Given the description of an element on the screen output the (x, y) to click on. 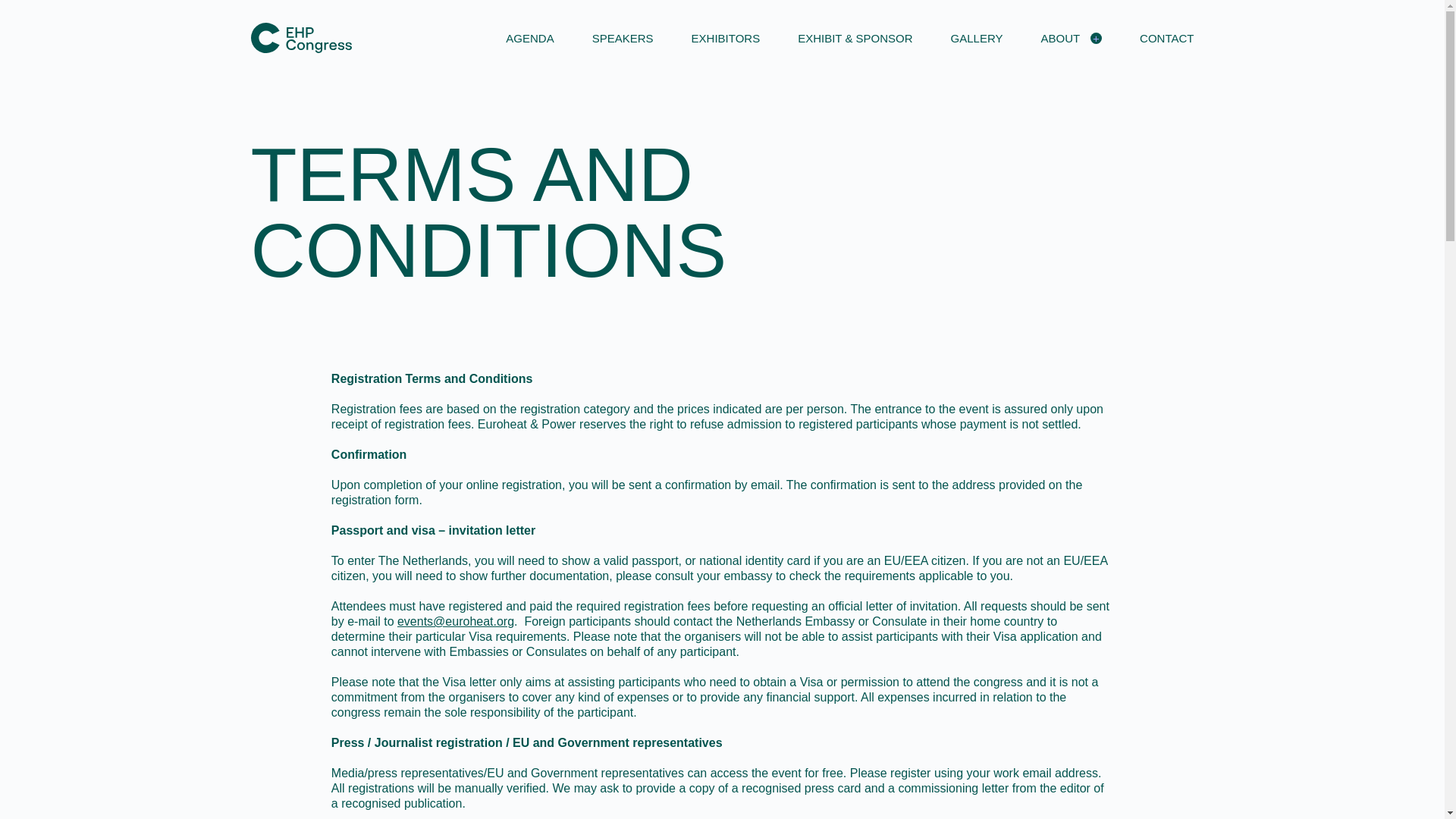
SPEAKERS (622, 38)
CONTACT (1166, 38)
AGENDA (529, 38)
GALLERY (976, 38)
EXHIBITORS (725, 38)
